Given the description of an element on the screen output the (x, y) to click on. 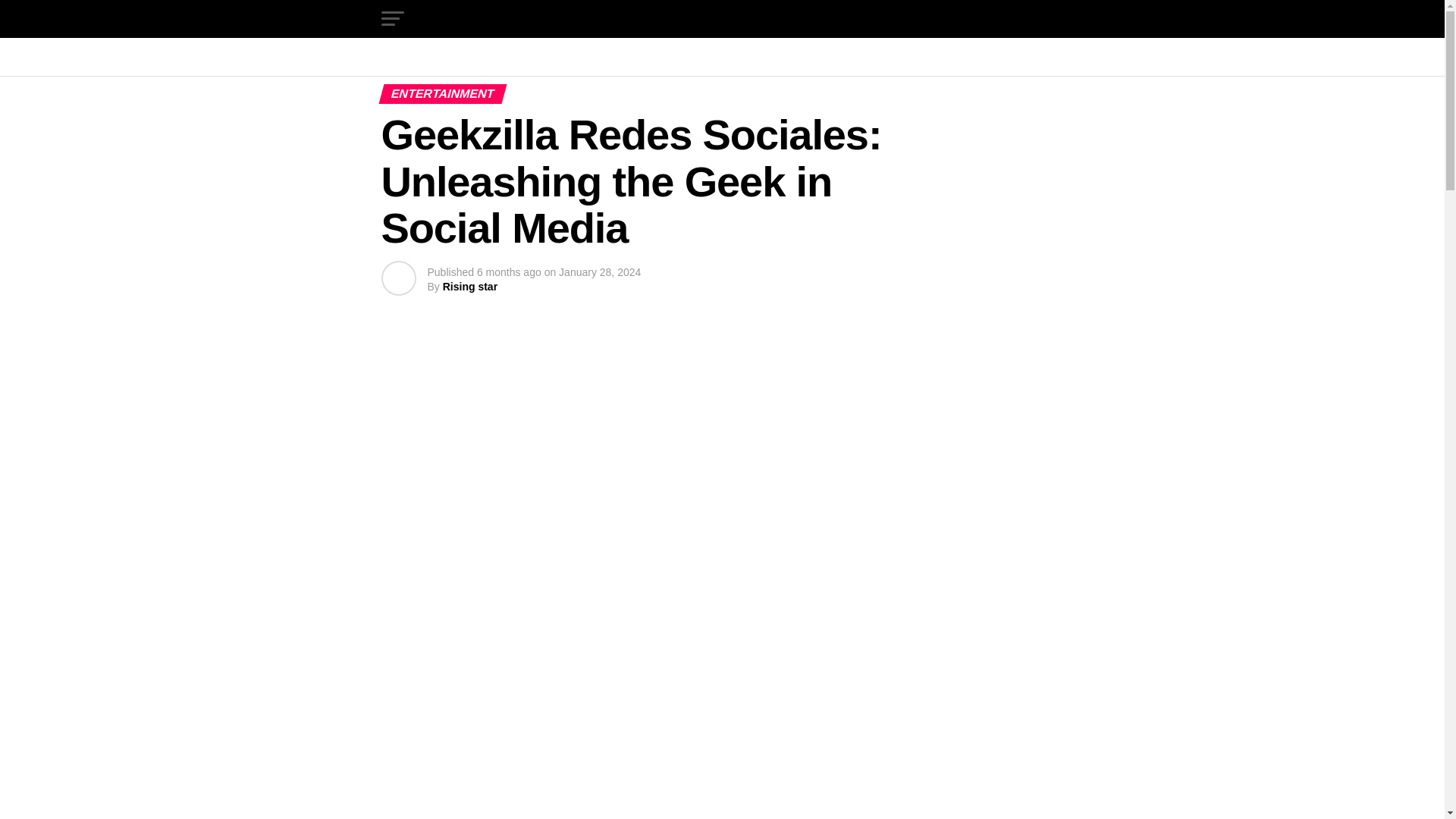
Posts by Rising star (469, 286)
Rising star (469, 286)
